Given the description of an element on the screen output the (x, y) to click on. 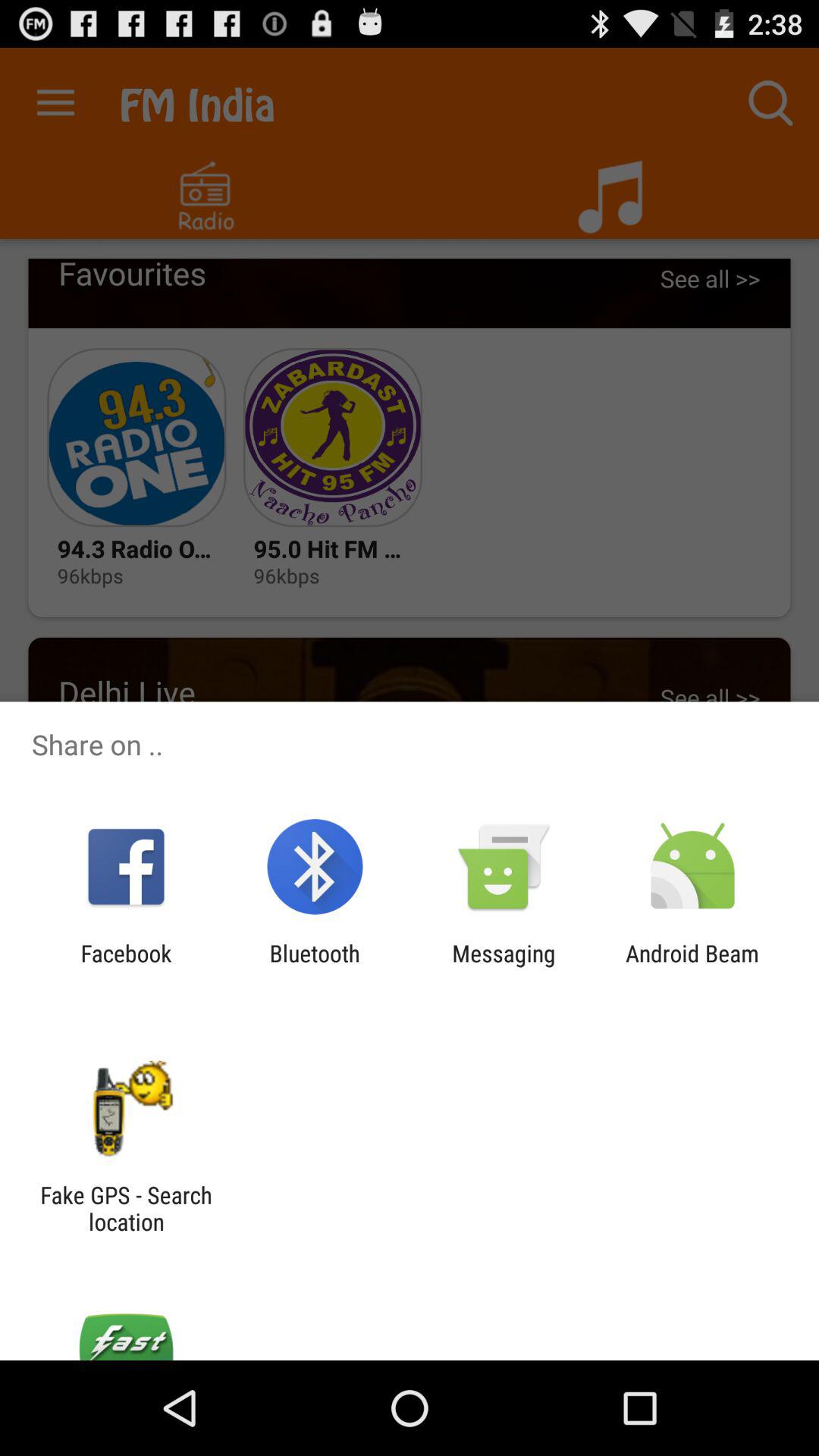
open app next to the android beam item (503, 966)
